Given the description of an element on the screen output the (x, y) to click on. 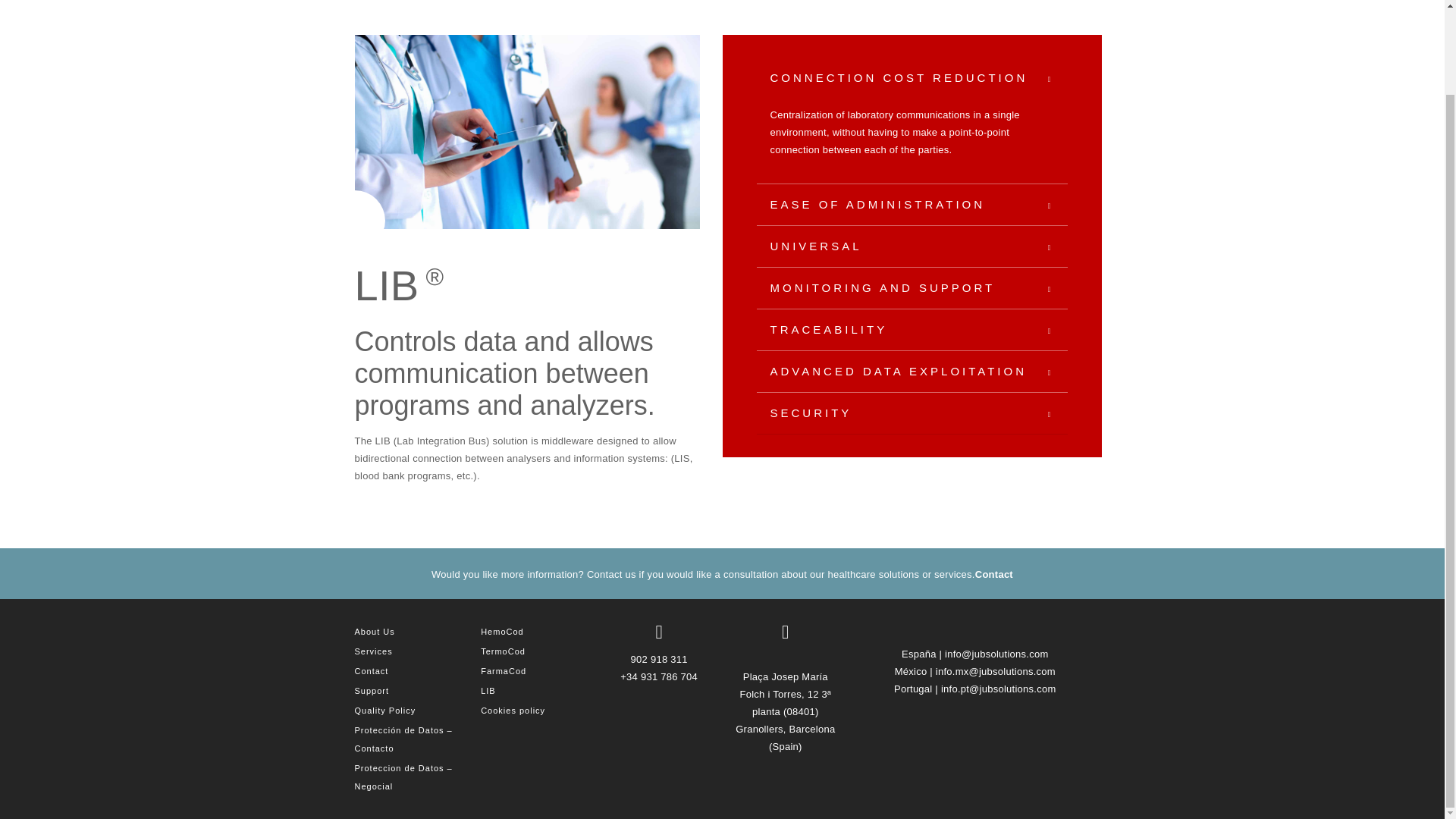
About Us (374, 631)
CONNECTION COST REDUCTION (912, 77)
EASE OF ADMINISTRATION (912, 204)
TermoCod (502, 651)
FarmaCod (502, 670)
Support (372, 690)
MONITORING AND SUPPORT (912, 287)
Contact (994, 573)
Quality Policy (385, 709)
Services (374, 651)
SECURITY (912, 413)
ADVANCED DATA EXPLOITATION (912, 371)
UNIVERSAL (912, 246)
TRACEABILITY (912, 329)
Contact (371, 670)
